Given the description of an element on the screen output the (x, y) to click on. 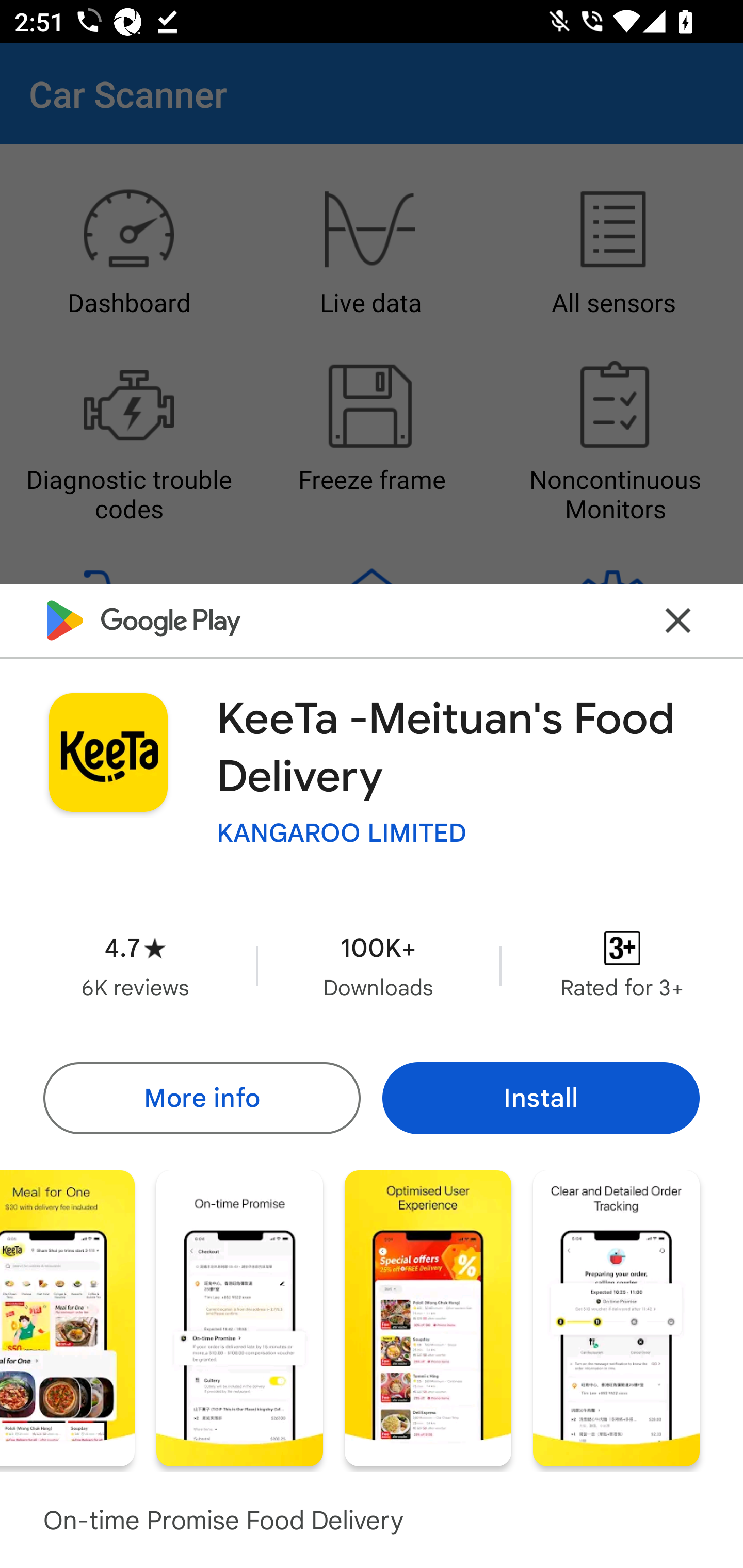
Close (677, 620)
KANGAROO LIMITED (341, 832)
More info (201, 1097)
Install (540, 1097)
Screenshot "3" of "6" (67, 1317)
Screenshot "4" of "6" (239, 1317)
Screenshot "5" of "6" (427, 1317)
Screenshot "6" of "6" (615, 1317)
